Given the description of an element on the screen output the (x, y) to click on. 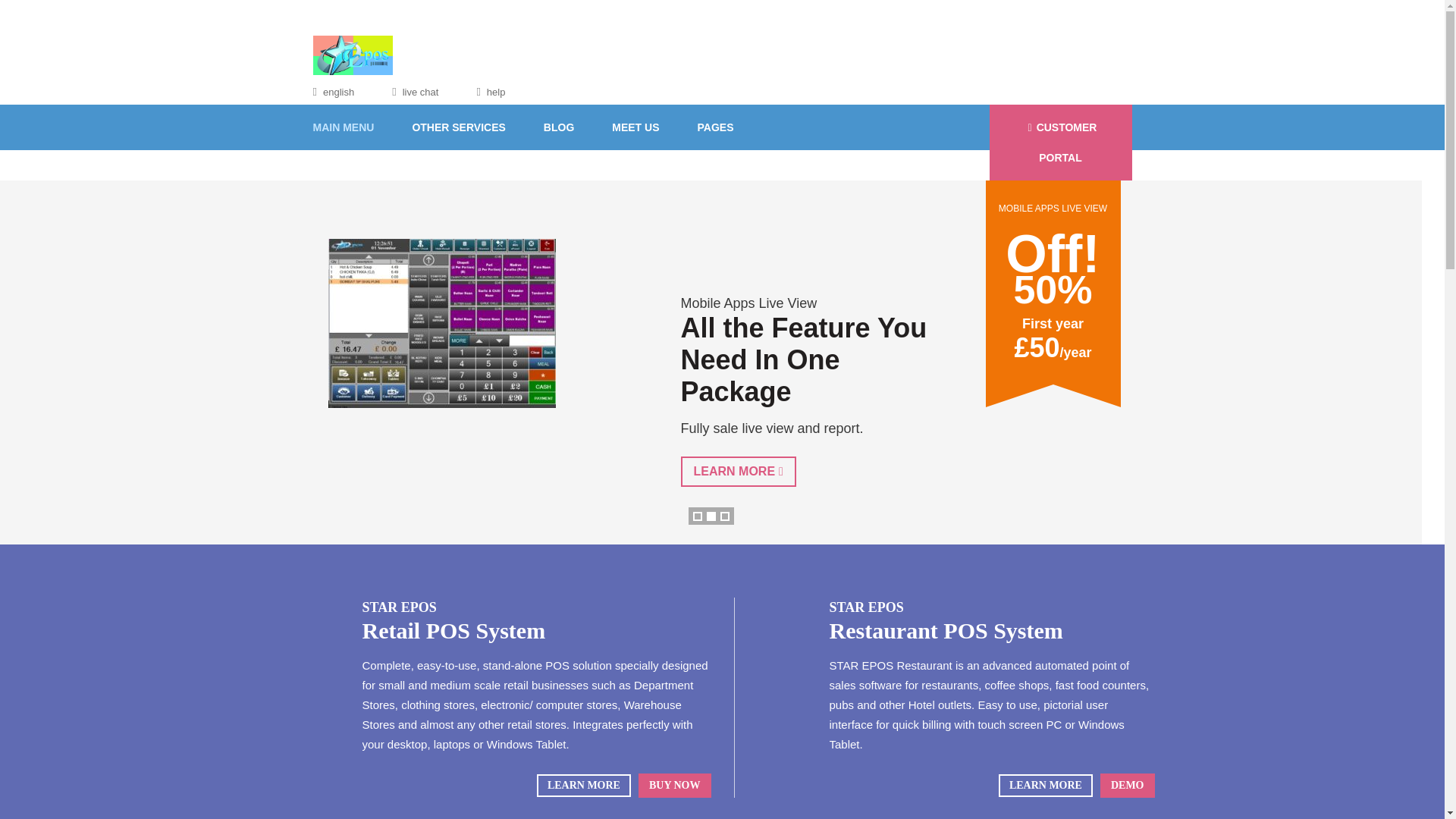
MEET US (635, 126)
LEARN MORE (583, 784)
live chat (414, 91)
LEARN MORE (1045, 784)
CUSTOMER PORTAL (1059, 142)
LEARN MORE (738, 471)
OTHER SERVICES (458, 126)
BLOG (558, 126)
DEMO (1127, 785)
help (490, 91)
PAGES (715, 126)
BUY NOW (675, 785)
MAIN MENU (353, 126)
